Given the description of an element on the screen output the (x, y) to click on. 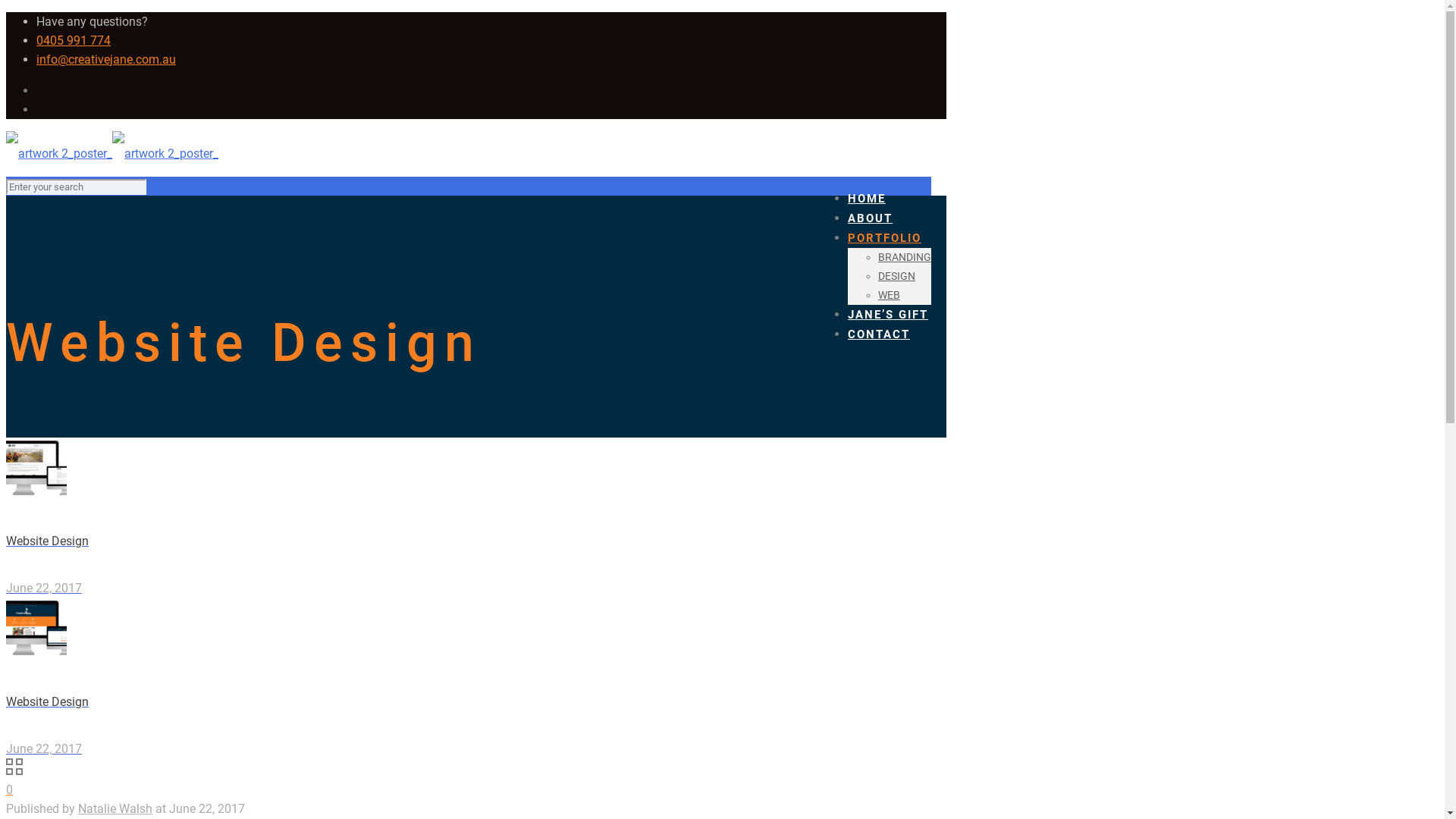
ABOUT Element type: text (869, 218)
0405 991 774 Element type: text (73, 40)
Website Design
June 22, 2017 Element type: text (476, 677)
0 Element type: text (9, 789)
HOME Element type: text (866, 198)
DESIGN Element type: text (896, 275)
Natalie Walsh Element type: text (115, 808)
Website Design
June 22, 2017 Element type: text (476, 517)
PORTFOLIO Element type: text (884, 237)
Creative Jane Element type: hover (112, 153)
CONTACT Element type: text (878, 334)
BRANDING Element type: text (904, 257)
WEB Element type: text (889, 294)
info@creativejane.com.au Element type: text (105, 59)
